Given the description of an element on the screen output the (x, y) to click on. 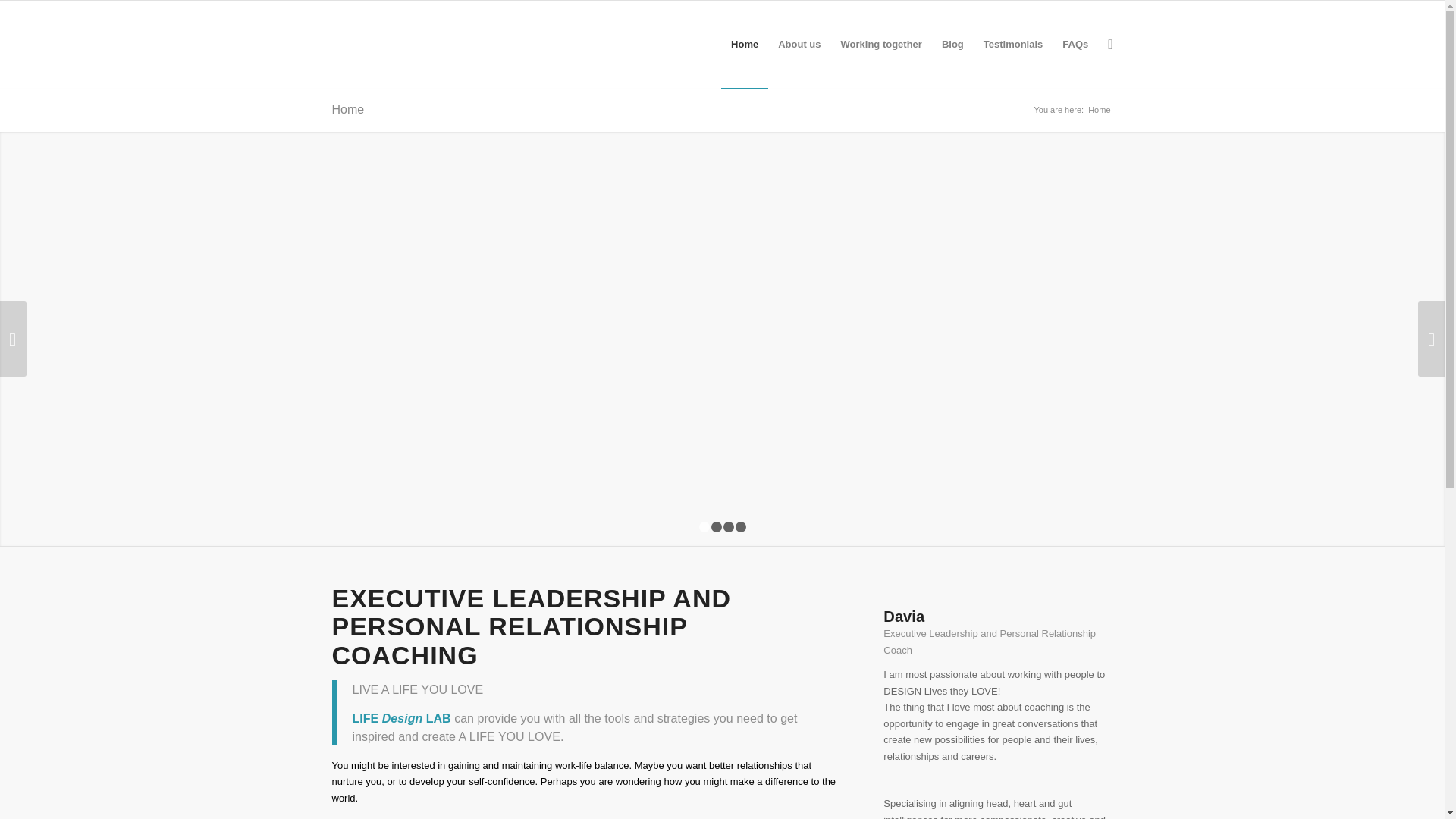
4 (740, 526)
Working together (881, 44)
Testimonials (1013, 44)
3 (728, 526)
Home (348, 109)
1 (704, 526)
2 (716, 526)
Permanent Link: Home (348, 109)
